Given the description of an element on the screen output the (x, y) to click on. 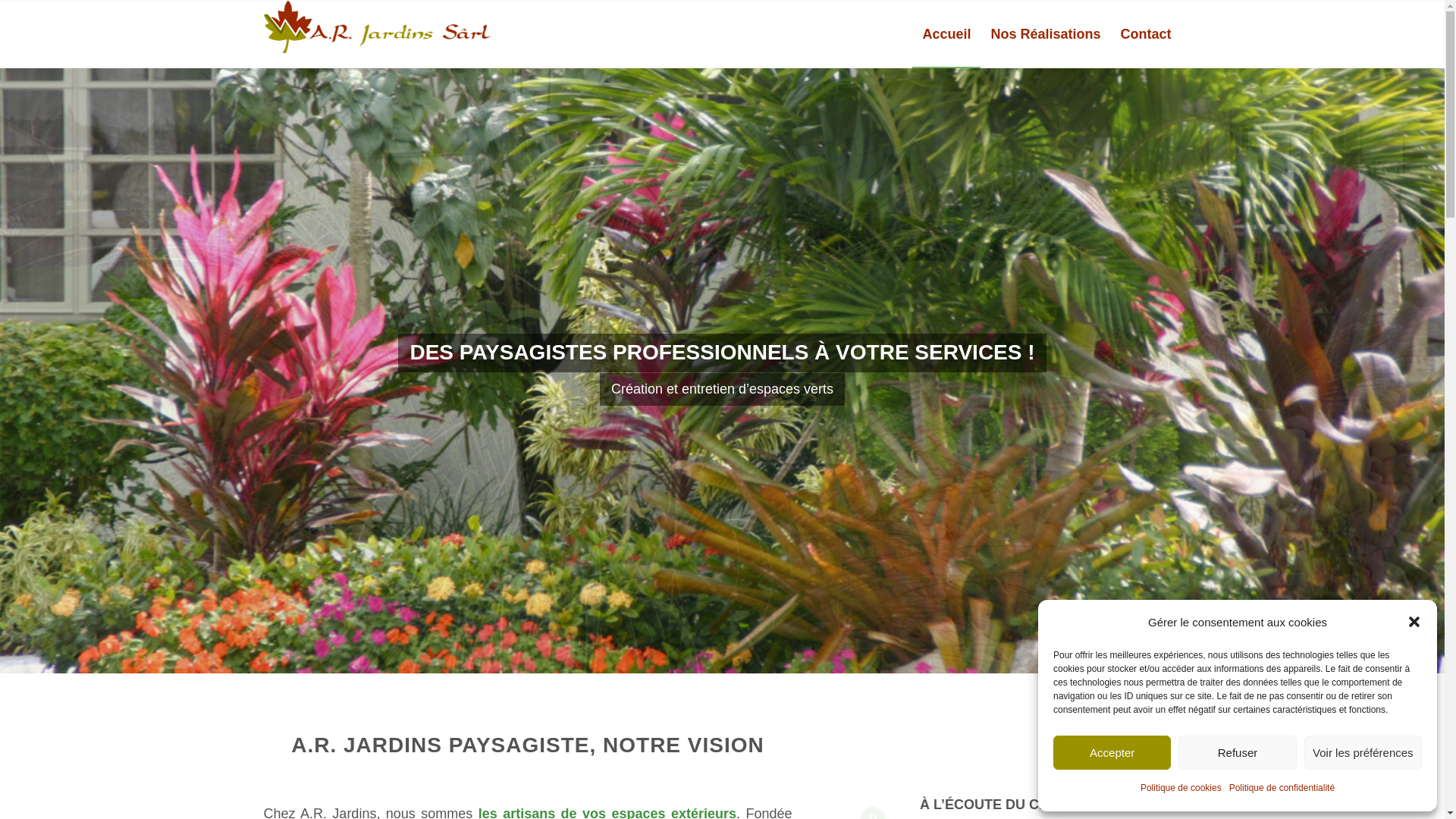
Accepter Element type: text (1111, 752)
Home-page-fleurs-tropicales Element type: hover (722, 369)
Politique de cookies Element type: text (1180, 788)
Contact Element type: text (1145, 33)
Refuser Element type: text (1236, 752)
Accueil Element type: text (946, 33)
